Given the description of an element on the screen output the (x, y) to click on. 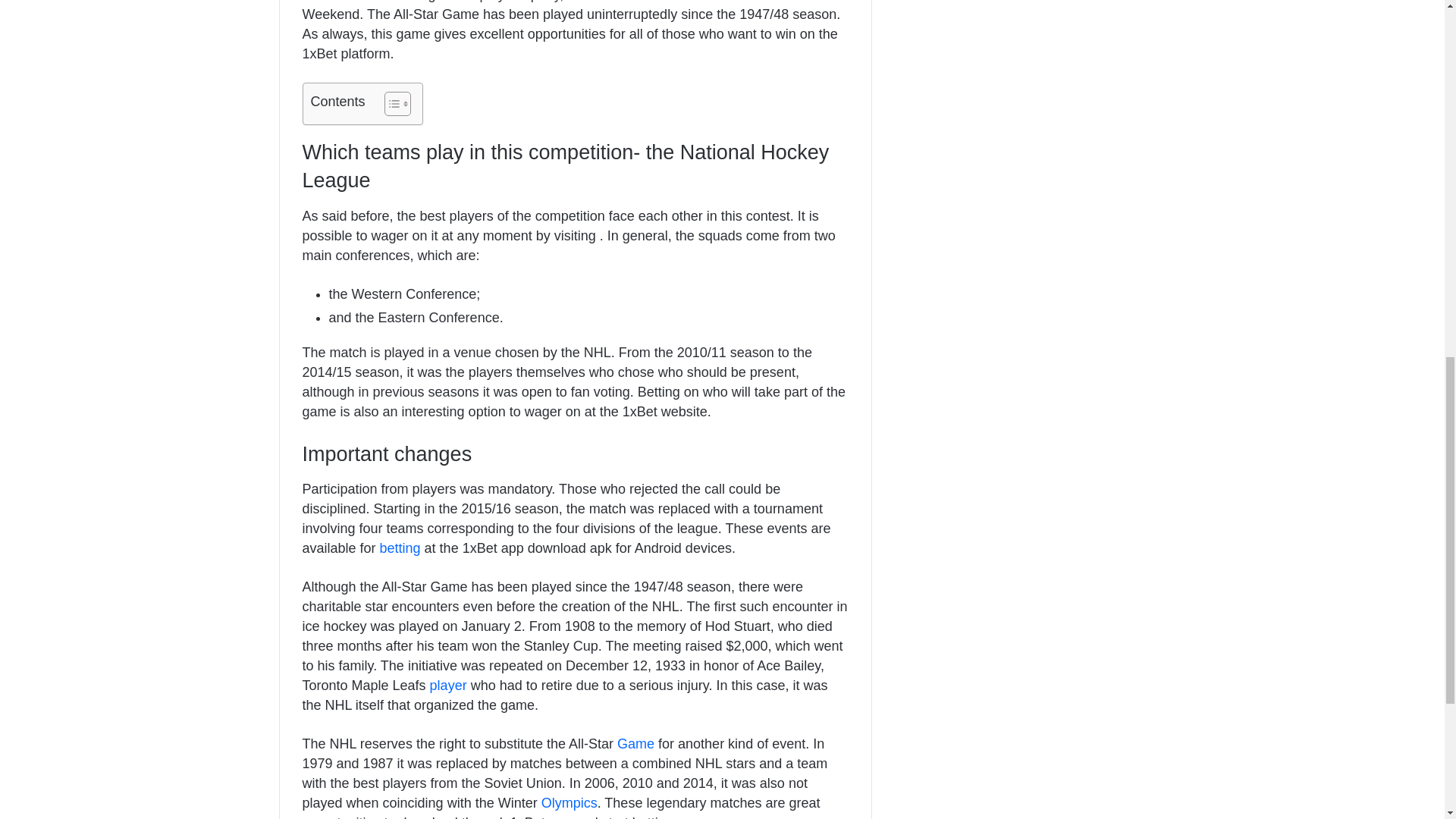
betting (400, 548)
Olympics (568, 802)
player (448, 685)
Game (635, 743)
